Given the description of an element on the screen output the (x, y) to click on. 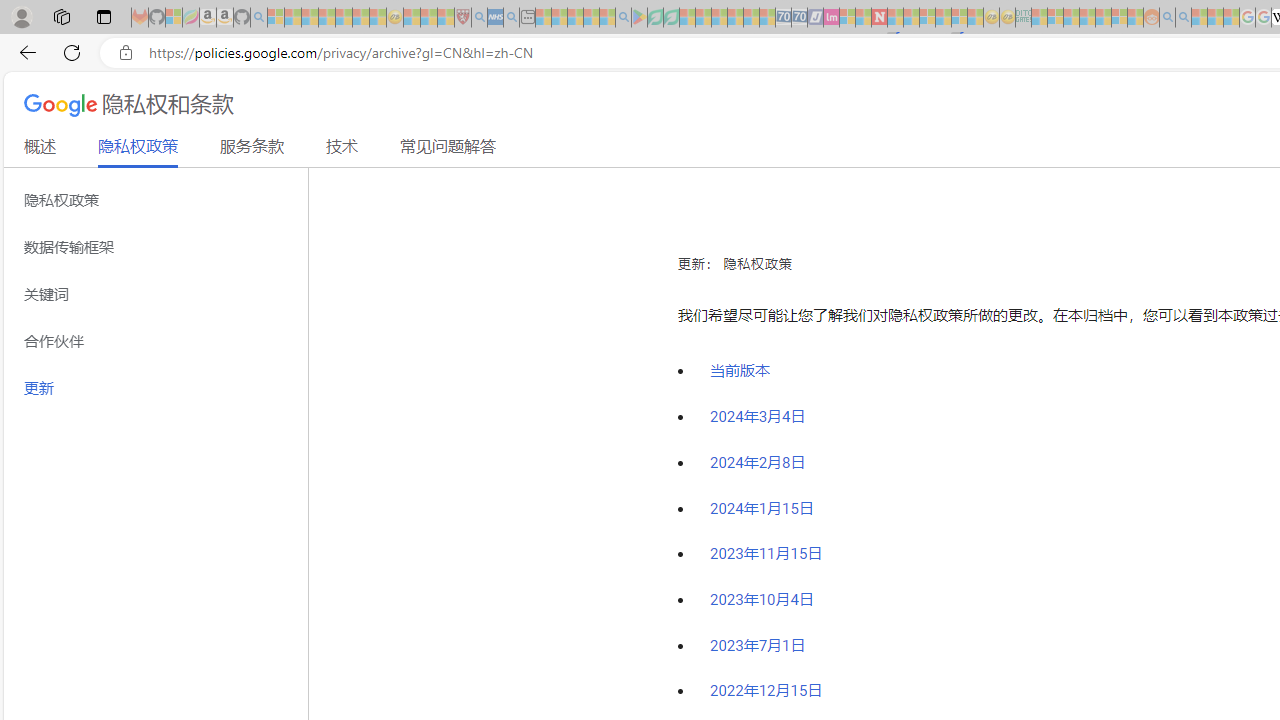
New Report Confirms 2023 Was Record Hot | Watch - Sleeping (343, 17)
